Given the description of an element on the screen output the (x, y) to click on. 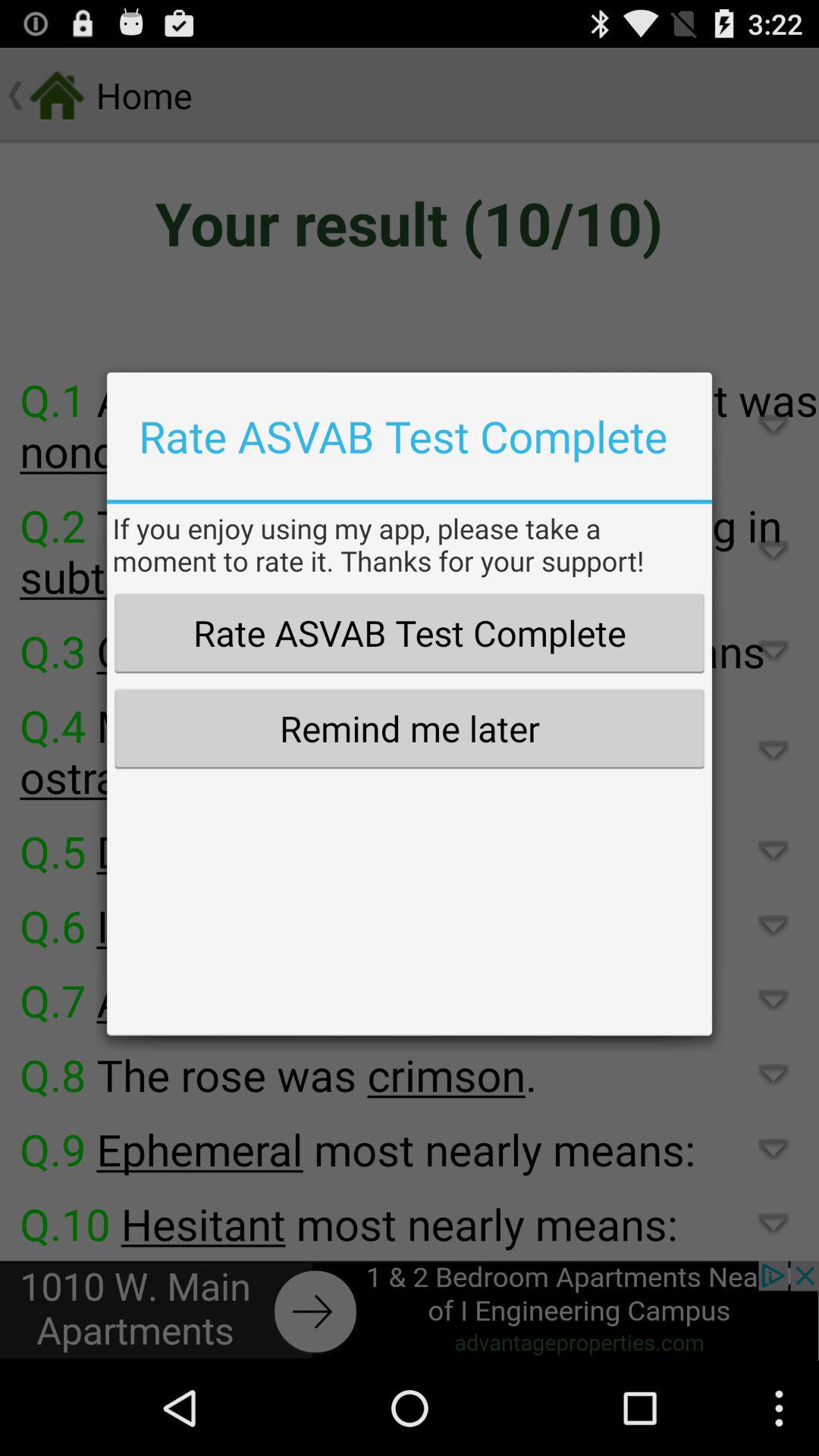
press icon below rate asvab test (409, 728)
